Given the description of an element on the screen output the (x, y) to click on. 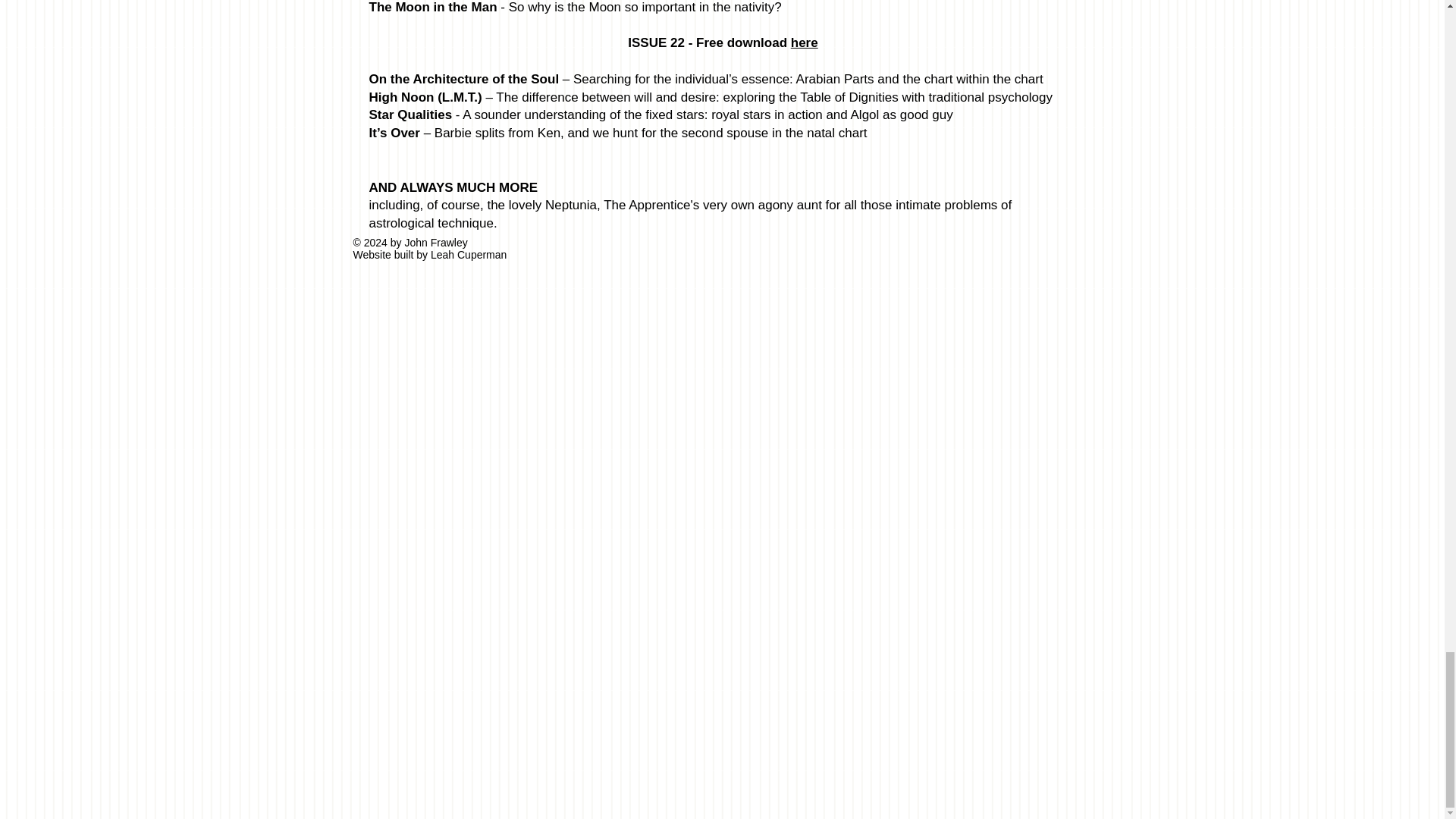
here (804, 42)
